Given the description of an element on the screen output the (x, y) to click on. 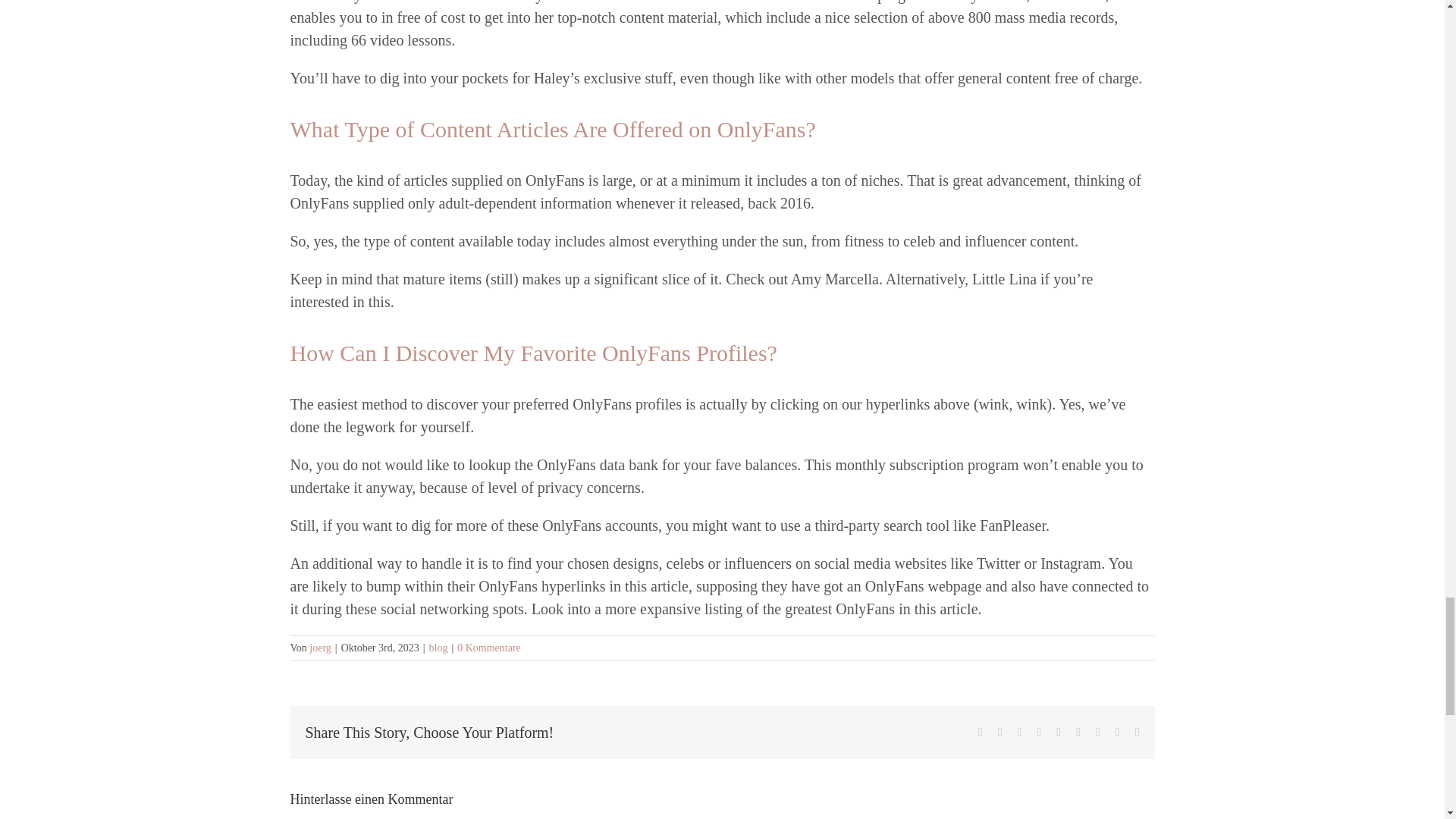
blog (438, 647)
0 Kommentare (489, 647)
joerg (319, 647)
